Given the description of an element on the screen output the (x, y) to click on. 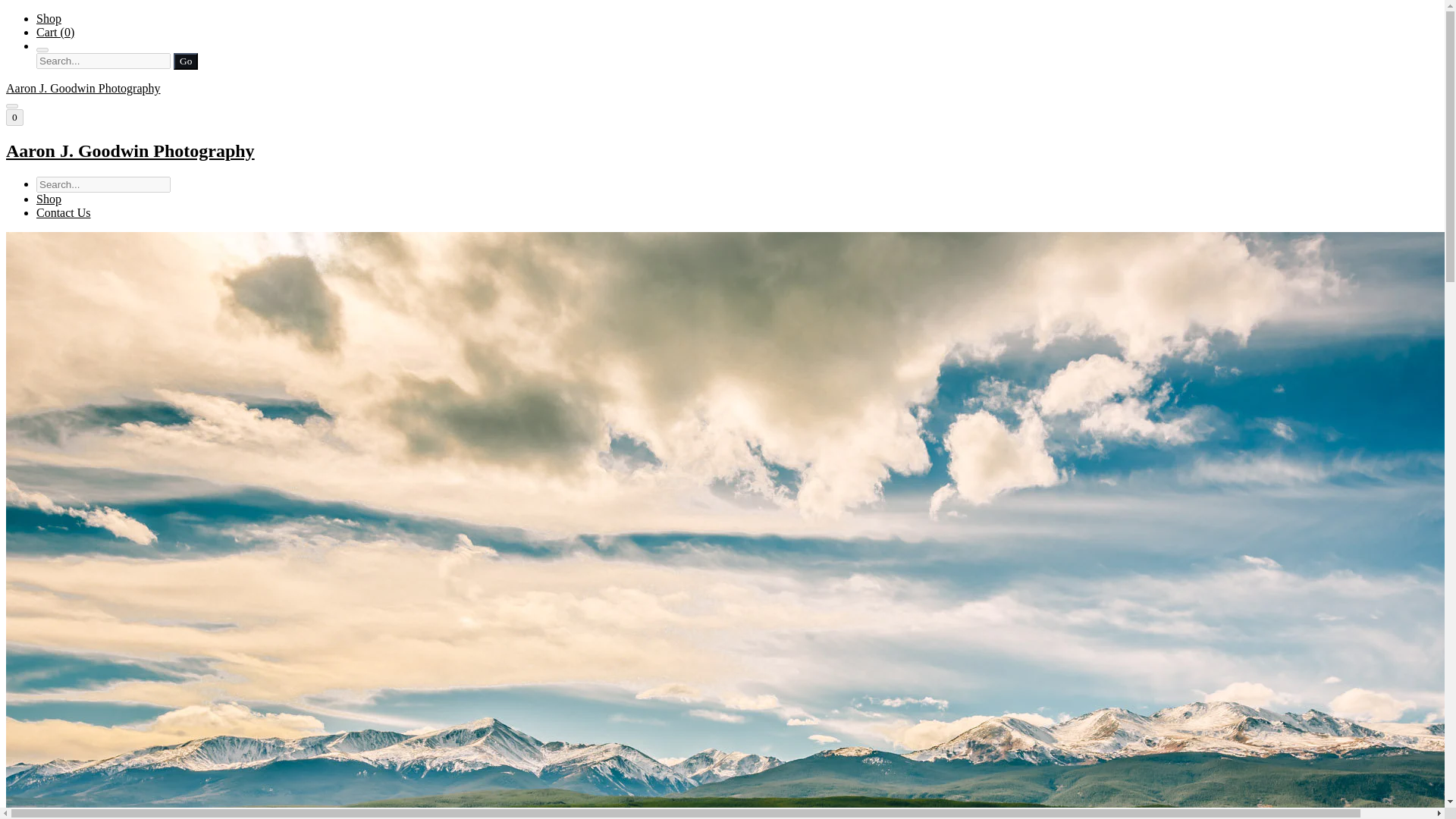
Shop (48, 198)
0 (14, 117)
Shop (48, 18)
Aaron J. Goodwin Photography (721, 150)
Contact Us (63, 212)
Go (185, 61)
Go (185, 61)
